Given the description of an element on the screen output the (x, y) to click on. 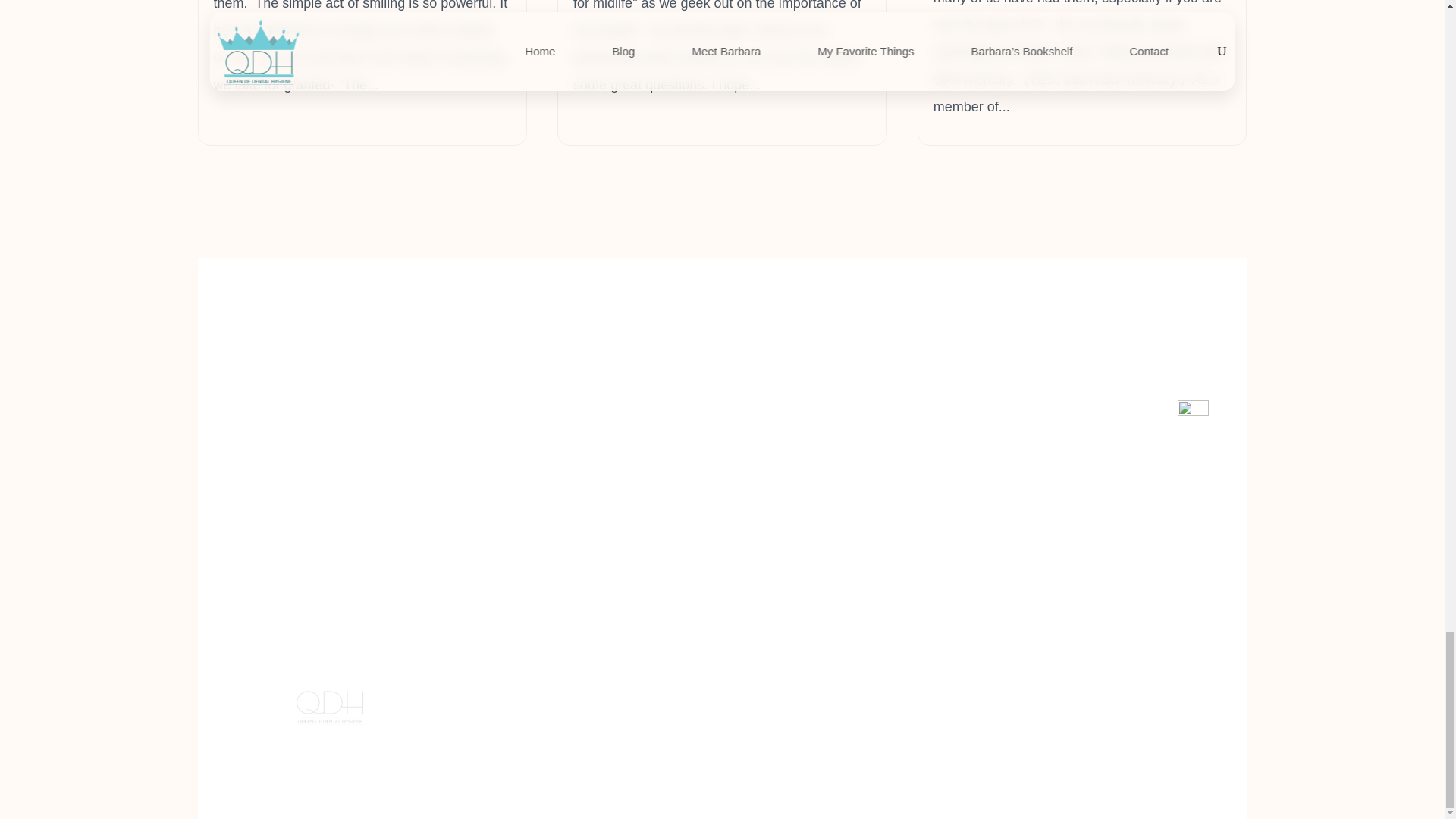
Follow on Pinterest (996, 444)
header-logo (328, 691)
Follow on Facebook (935, 444)
back to top (1192, 415)
Follow on Instagram (965, 444)
